Given the description of an element on the screen output the (x, y) to click on. 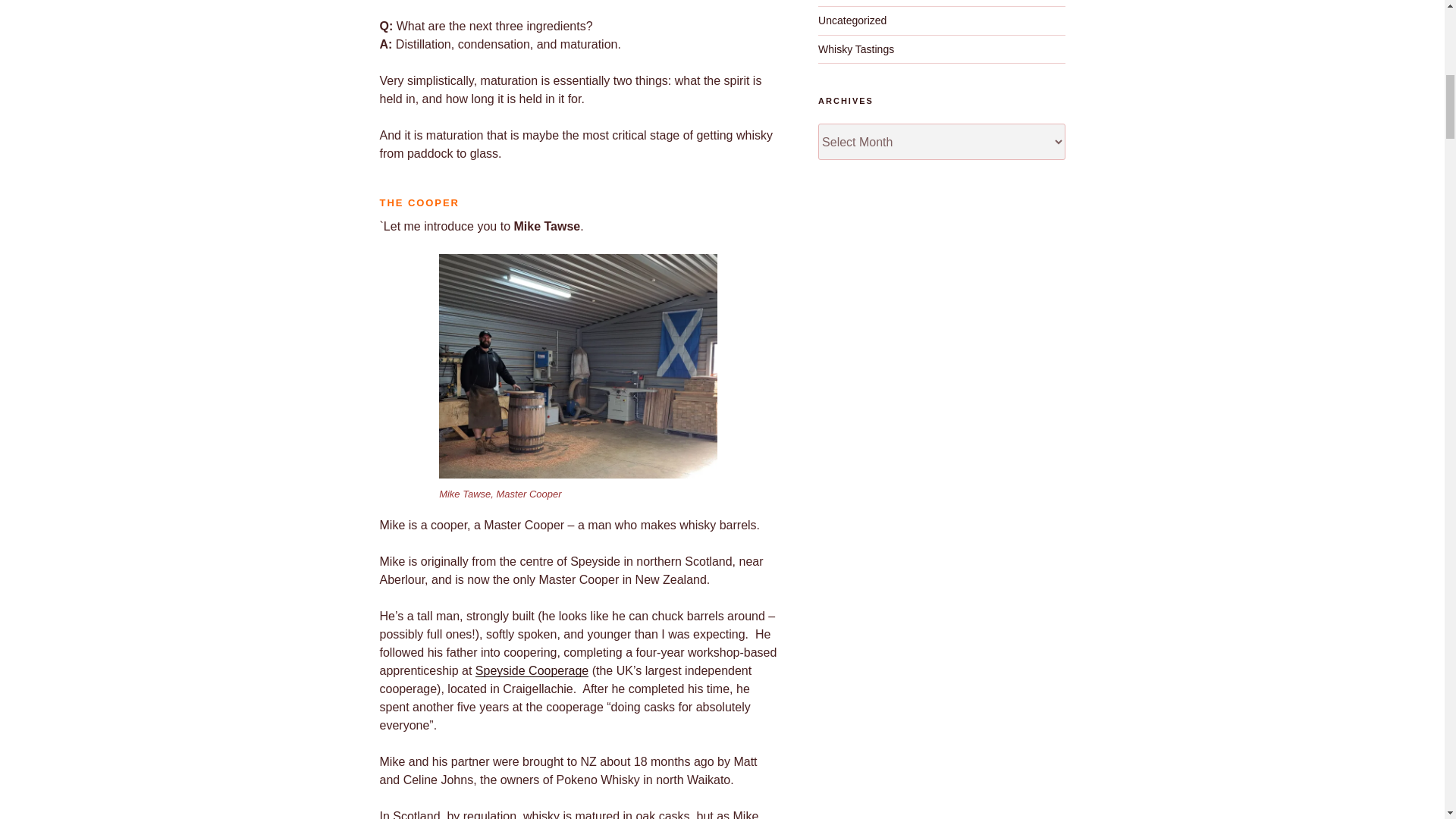
Whisky Tastings (855, 49)
Speyside Cooperage (532, 670)
Uncategorized (852, 20)
